Given the description of an element on the screen output the (x, y) to click on. 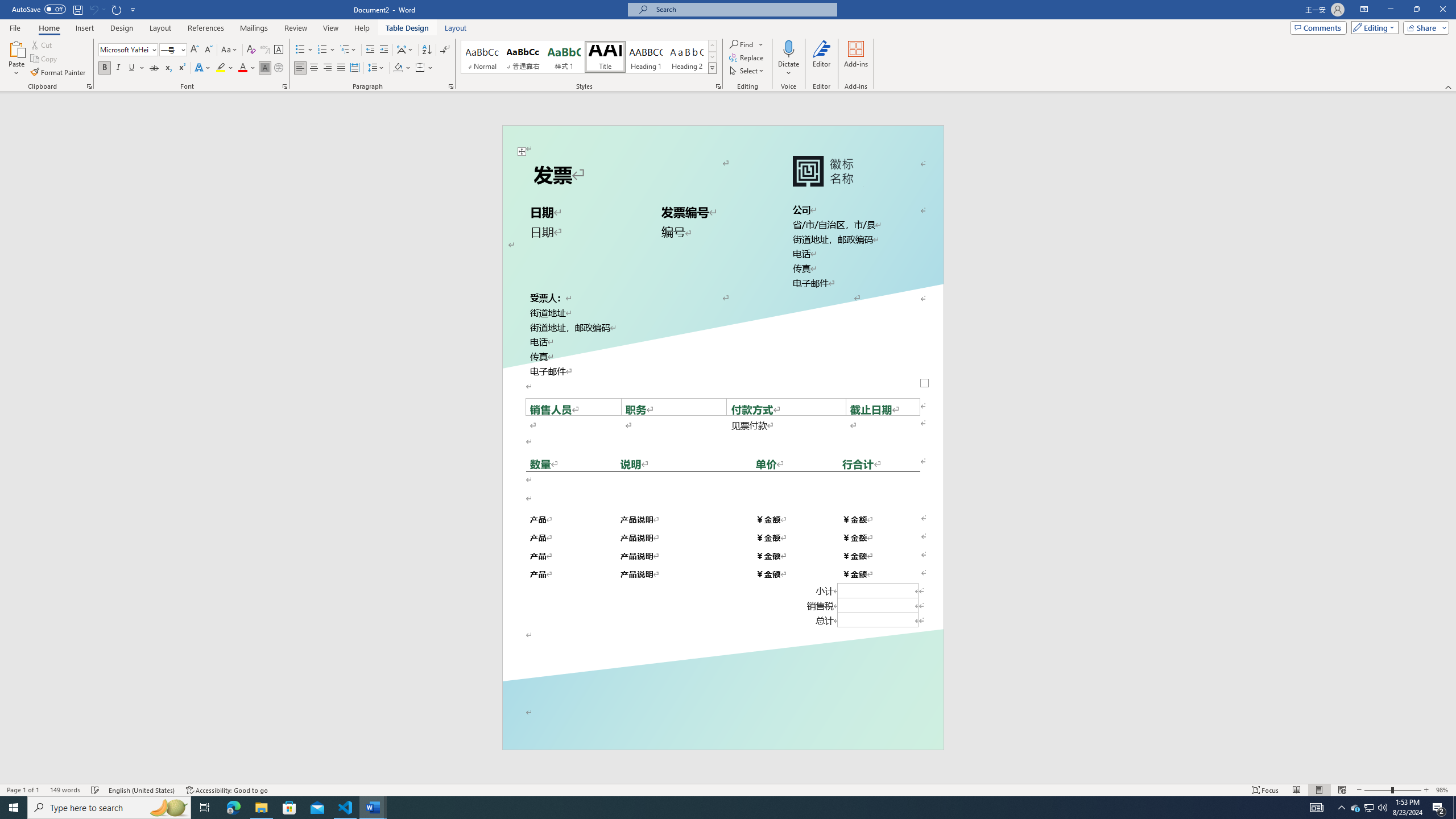
Zoom 98% (1443, 790)
